Given the description of an element on the screen output the (x, y) to click on. 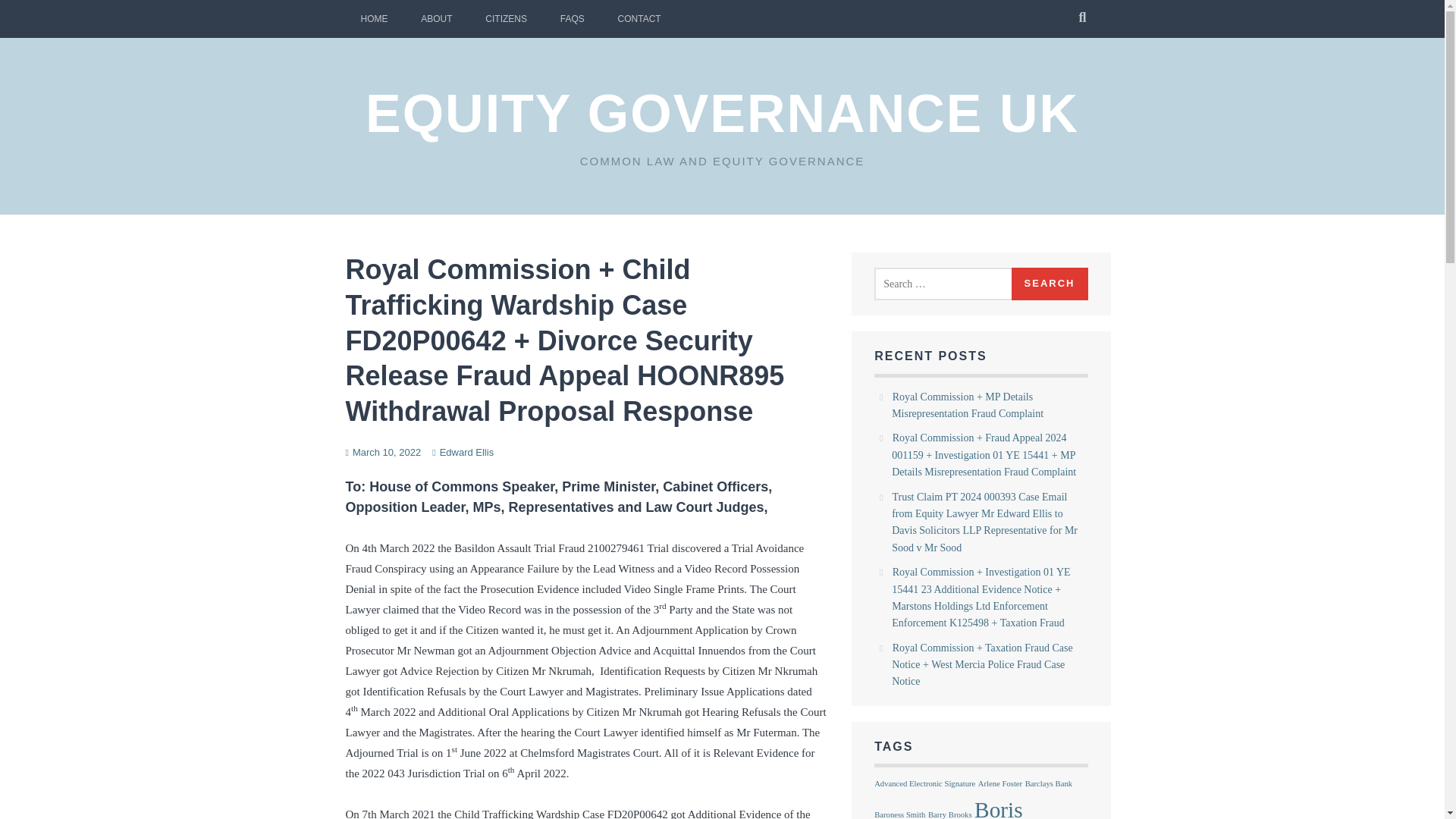
Search (1049, 283)
CITIZENS (505, 18)
CONTACT (639, 18)
HOME (374, 18)
EQUITY GOVERNANCE UK (721, 113)
Edward Ellis (467, 451)
Advanced Electronic Signature (925, 783)
Baroness Smith (899, 814)
Barry Brooks (950, 814)
